Given the description of an element on the screen output the (x, y) to click on. 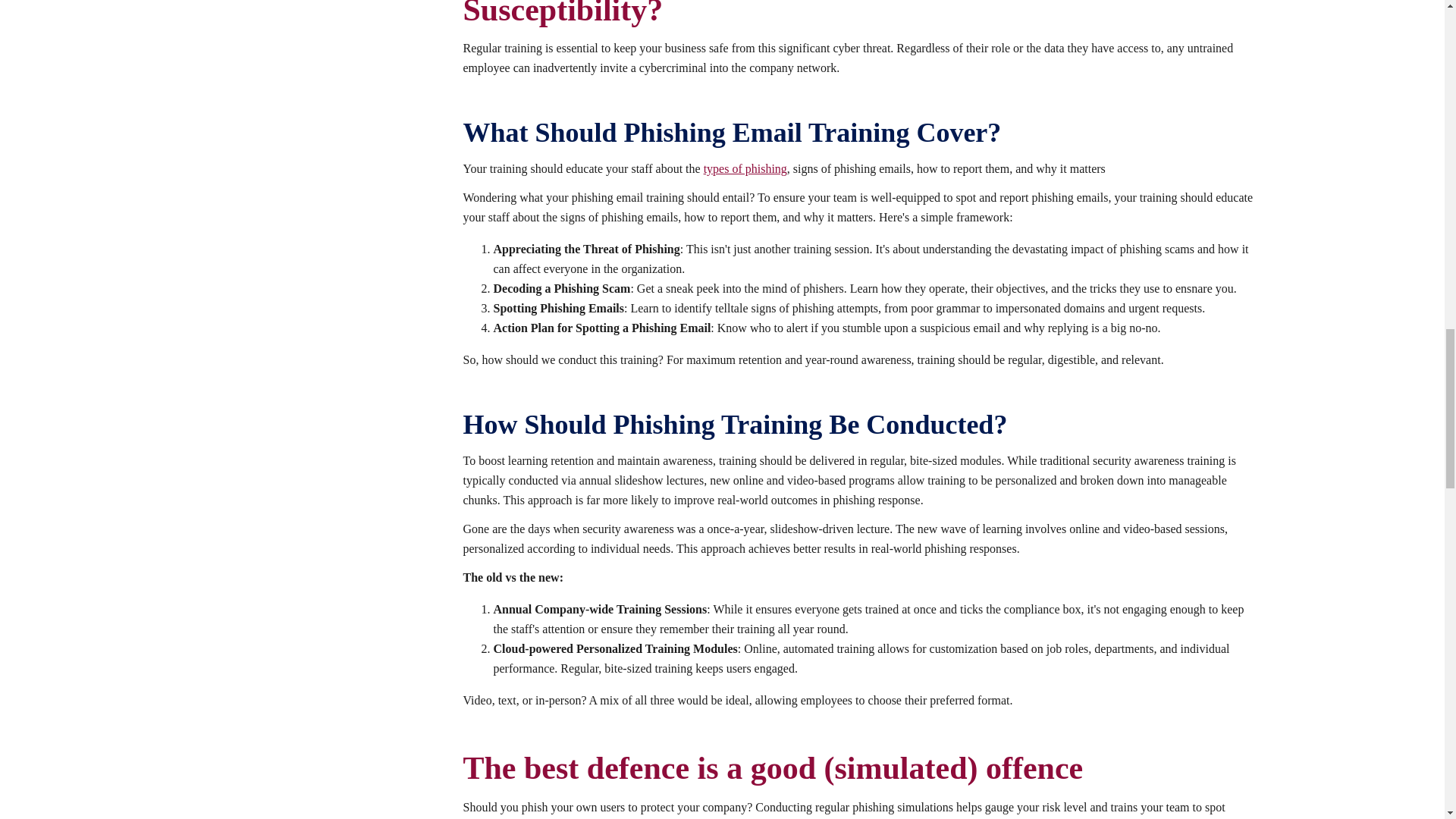
types of phishing (745, 168)
